Given the description of an element on the screen output the (x, y) to click on. 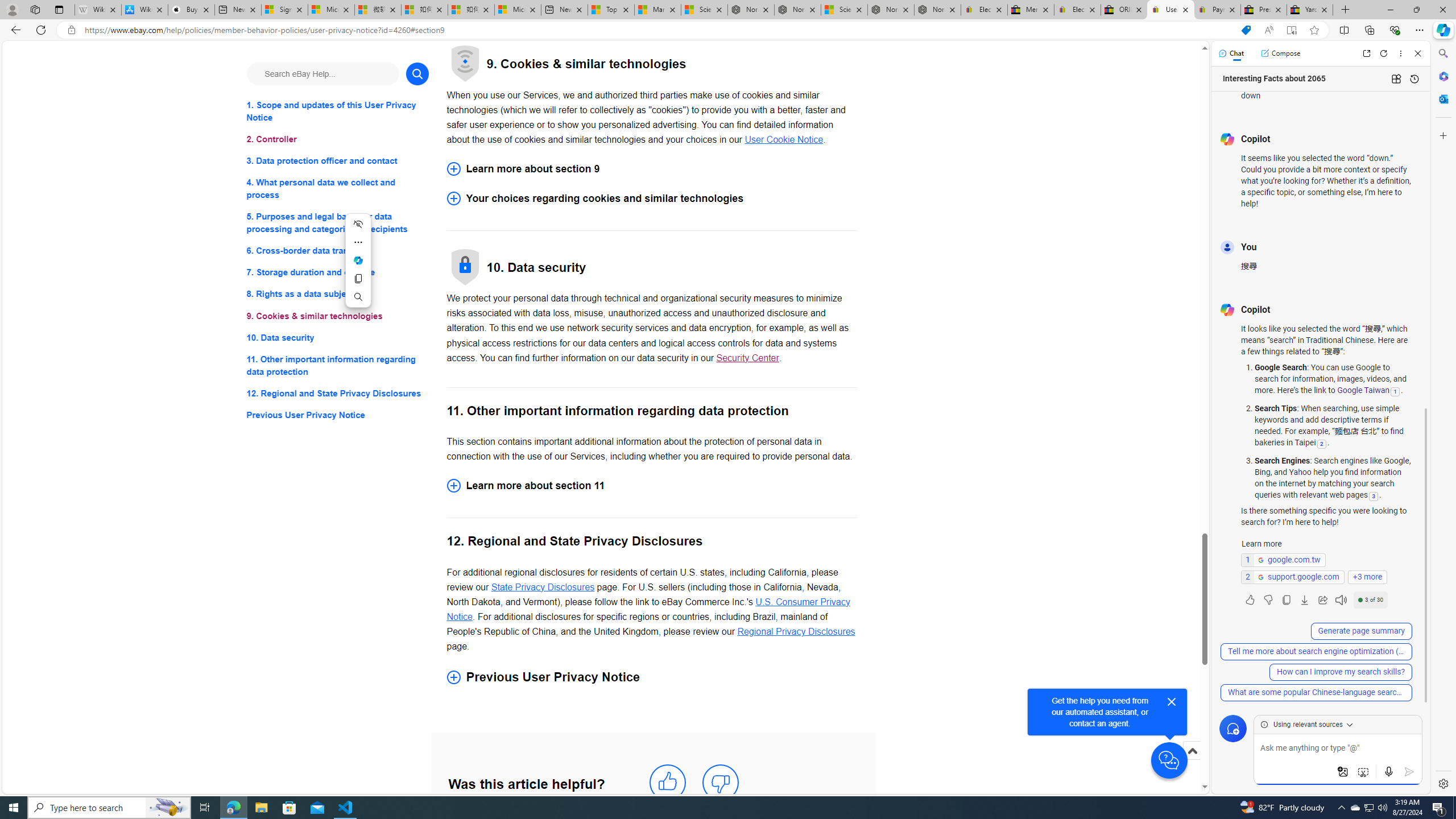
Security Center - opens in new window or tab (747, 357)
Previous User Privacy Notice (651, 677)
Mini menu on text selection (358, 266)
Mini menu on text selection (358, 260)
Marine life - MSN (656, 9)
3. Data protection officer and contact (337, 160)
1. Scope and updates of this User Privacy Notice (337, 111)
User Privacy Notice | eBay (1170, 9)
9. Cookies & similar technologies (337, 315)
More actions (358, 242)
